Given the description of an element on the screen output the (x, y) to click on. 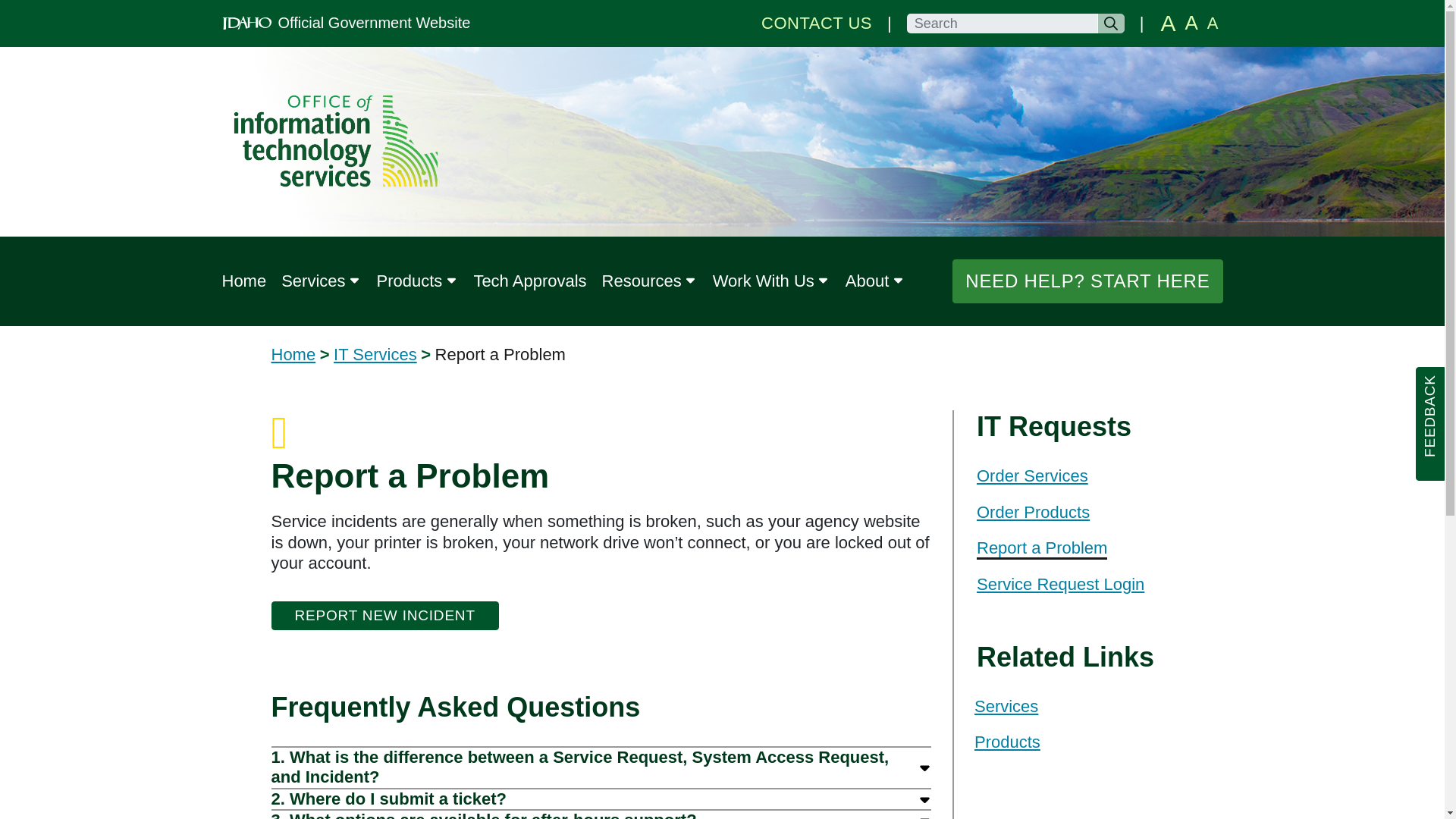
Services (320, 280)
Tech Approvals (529, 280)
resize text: normal (1212, 23)
Products (417, 280)
Home (243, 280)
About (875, 280)
resize text: largest (1167, 23)
Work With Us (771, 280)
A (1167, 23)
resize text: larger (1190, 23)
CONTACT US (816, 22)
A (1190, 23)
Resources (649, 280)
Services (320, 280)
A (1212, 23)
